Given the description of an element on the screen output the (x, y) to click on. 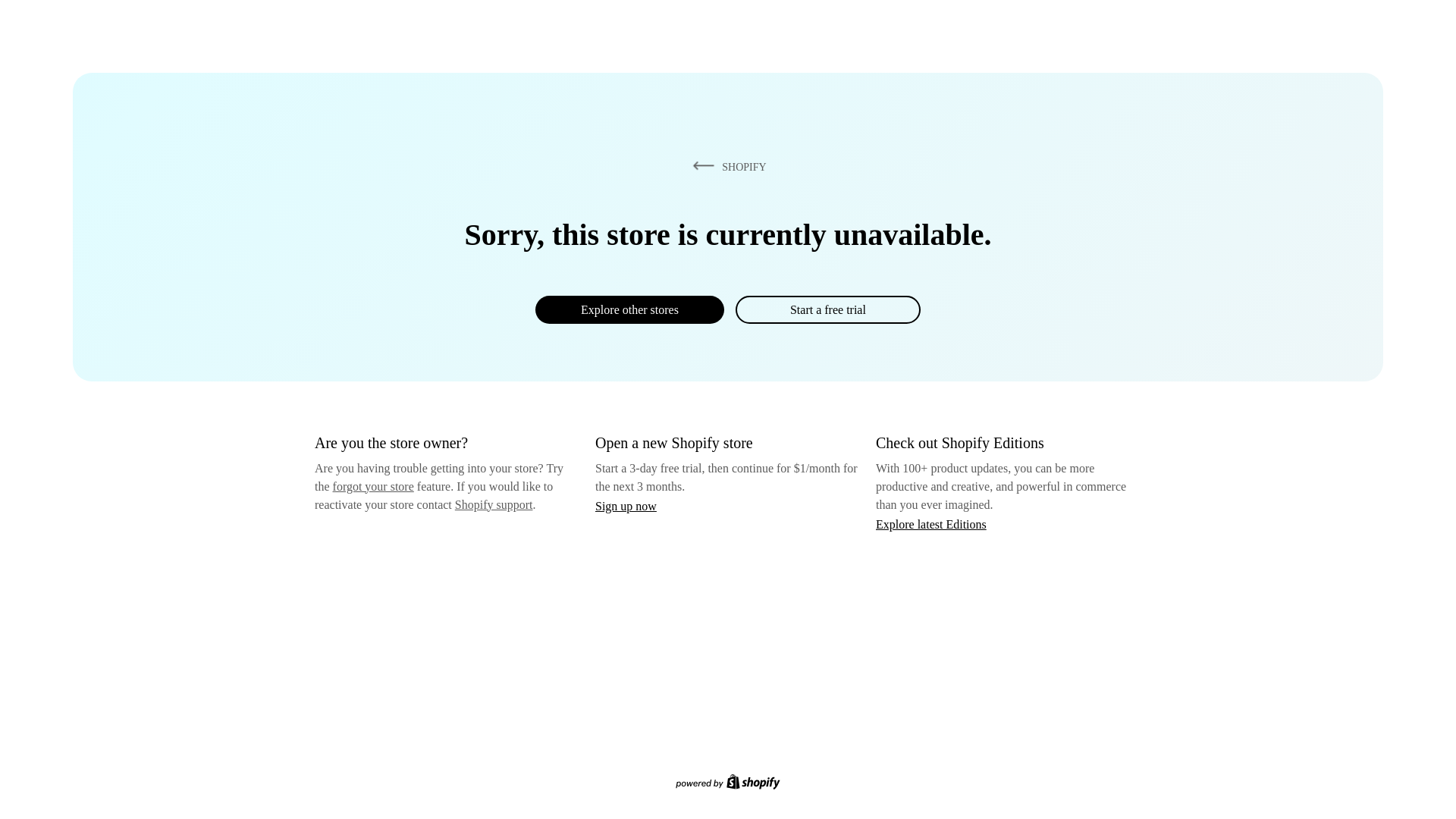
Start a free trial (827, 309)
Shopify support (493, 504)
Explore other stores (629, 309)
Sign up now (625, 505)
forgot your store (373, 486)
Explore latest Editions (931, 523)
SHOPIFY (726, 166)
